Given the description of an element on the screen output the (x, y) to click on. 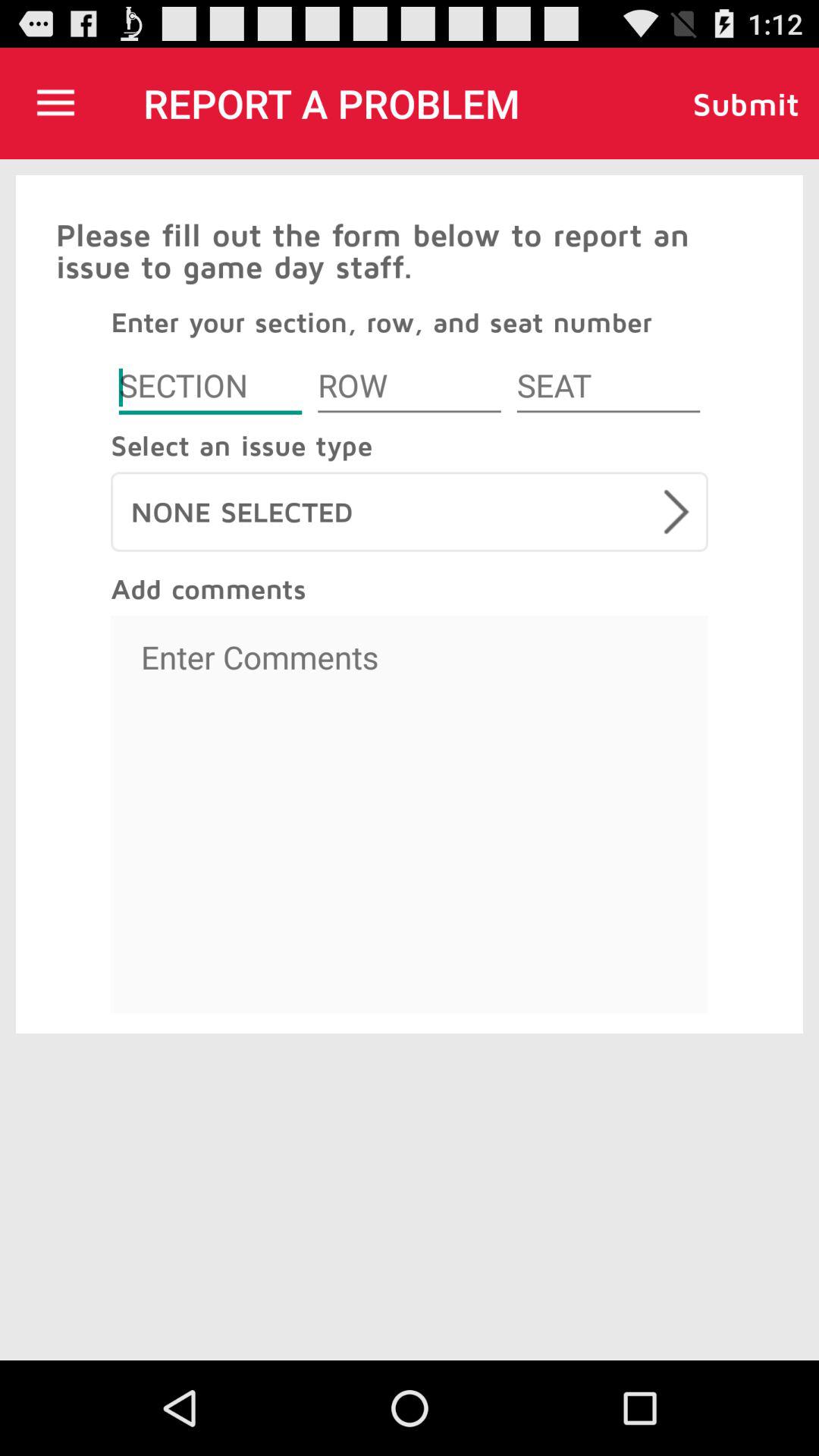
choose item above please fill out icon (55, 103)
